Given the description of an element on the screen output the (x, y) to click on. 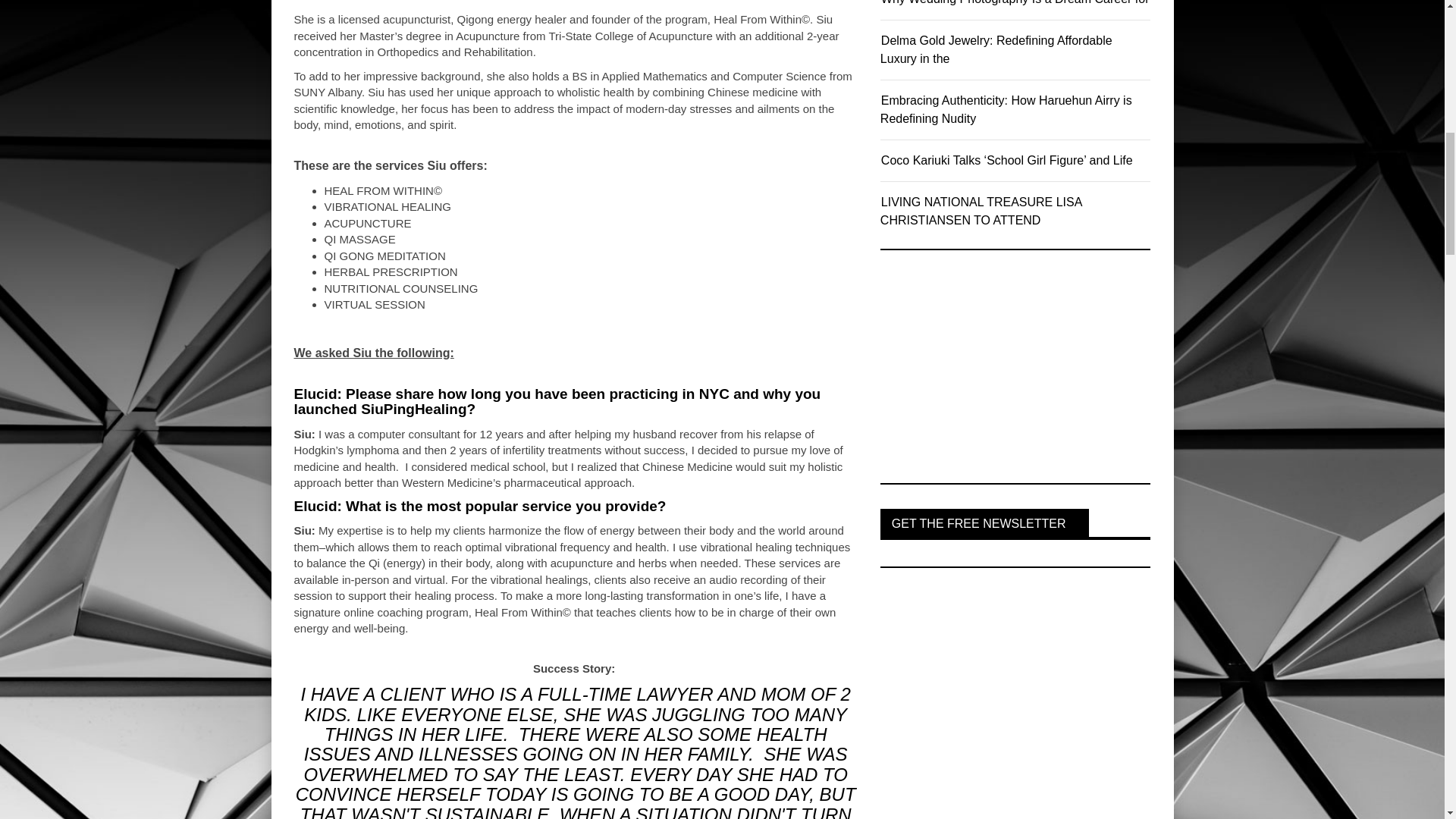
Delma Gold Jewelry: Redefining Affordable Luxury in the (996, 49)
Advertisement (994, 369)
Back to Top (1412, 30)
Why Wedding Photography Is a Dream Career for (1015, 2)
